Given the description of an element on the screen output the (x, y) to click on. 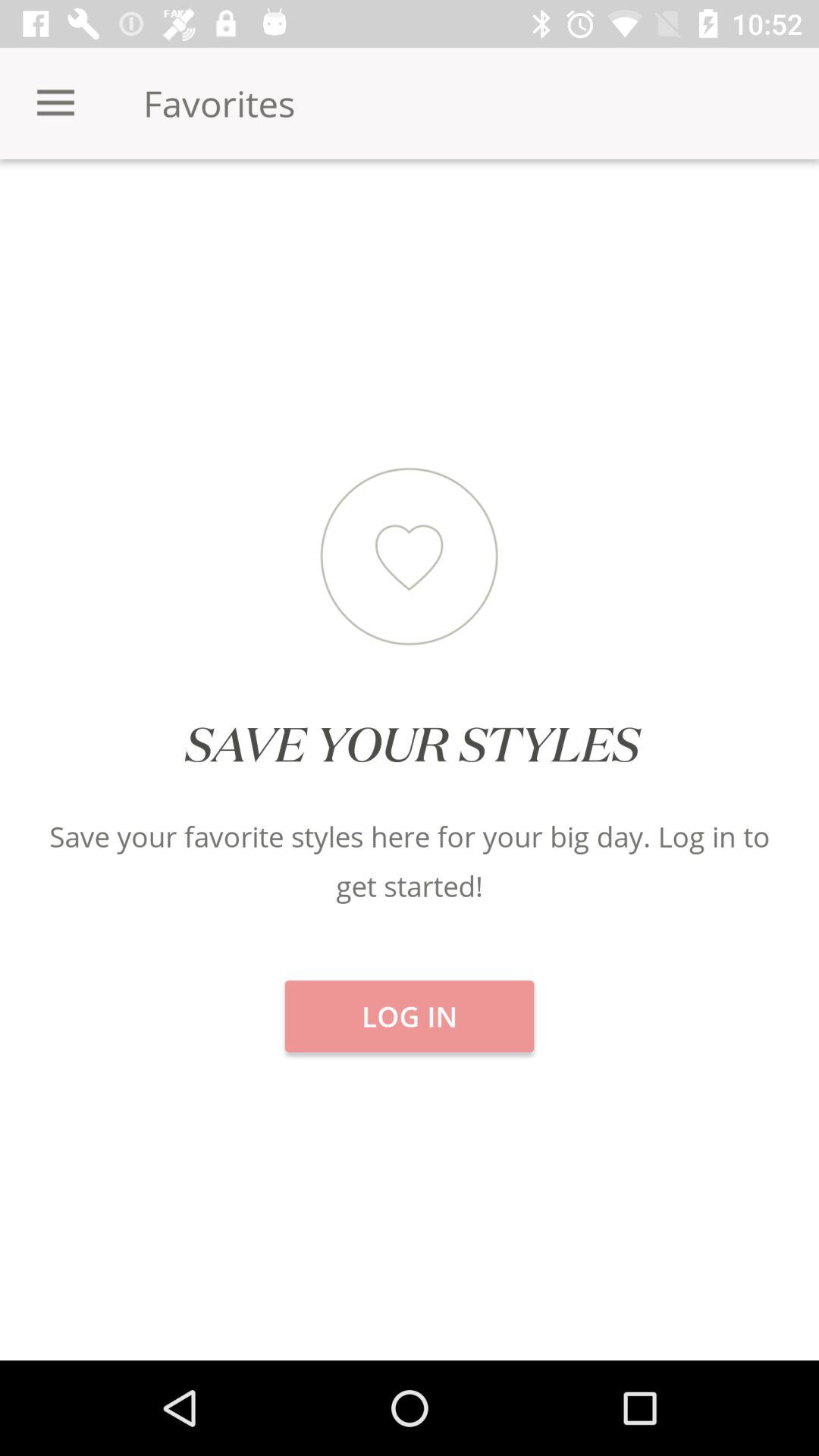
open the item above the hello (682, 212)
